Given the description of an element on the screen output the (x, y) to click on. 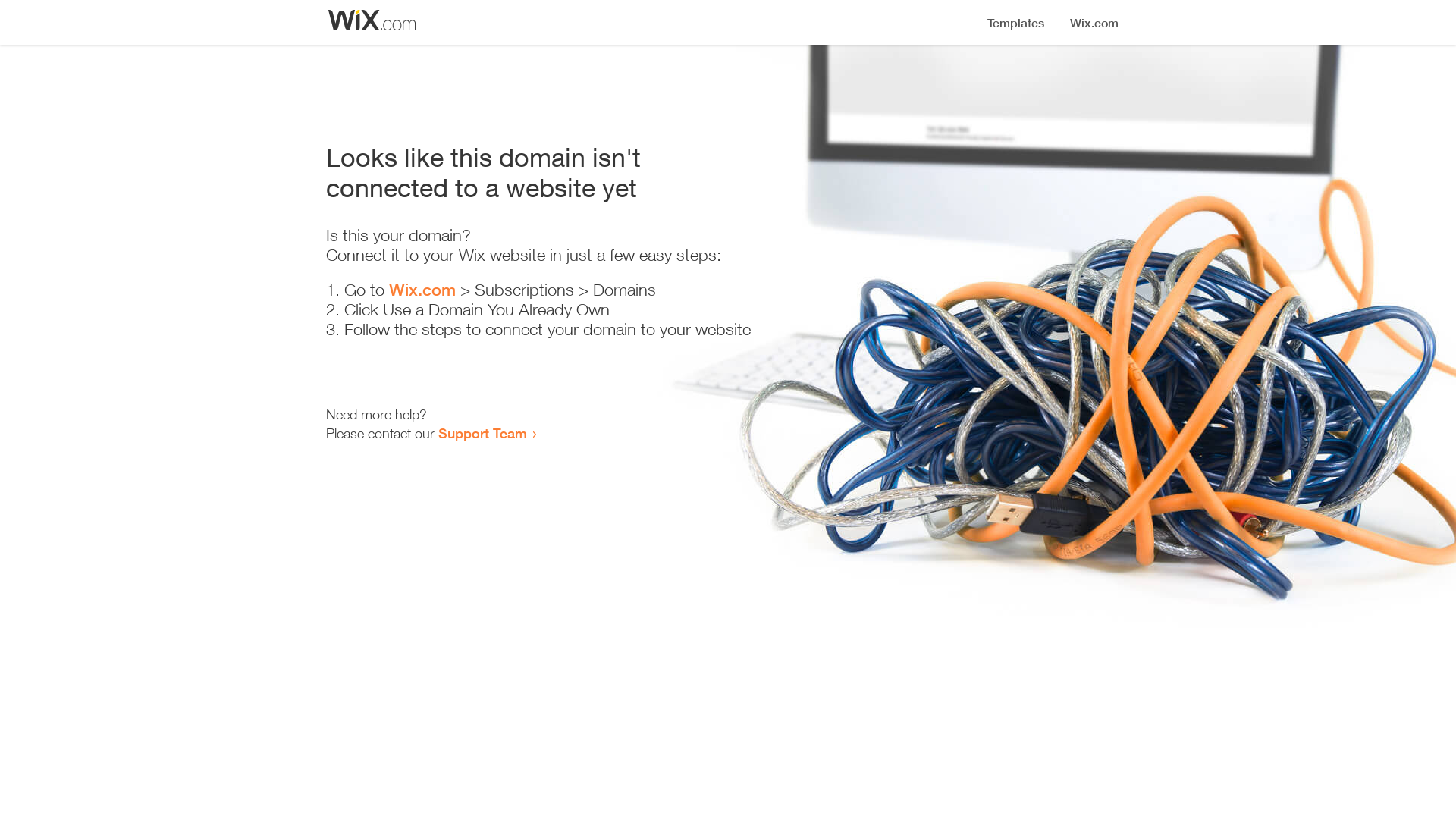
Support Team Element type: text (482, 432)
Wix.com Element type: text (422, 289)
